Given the description of an element on the screen output the (x, y) to click on. 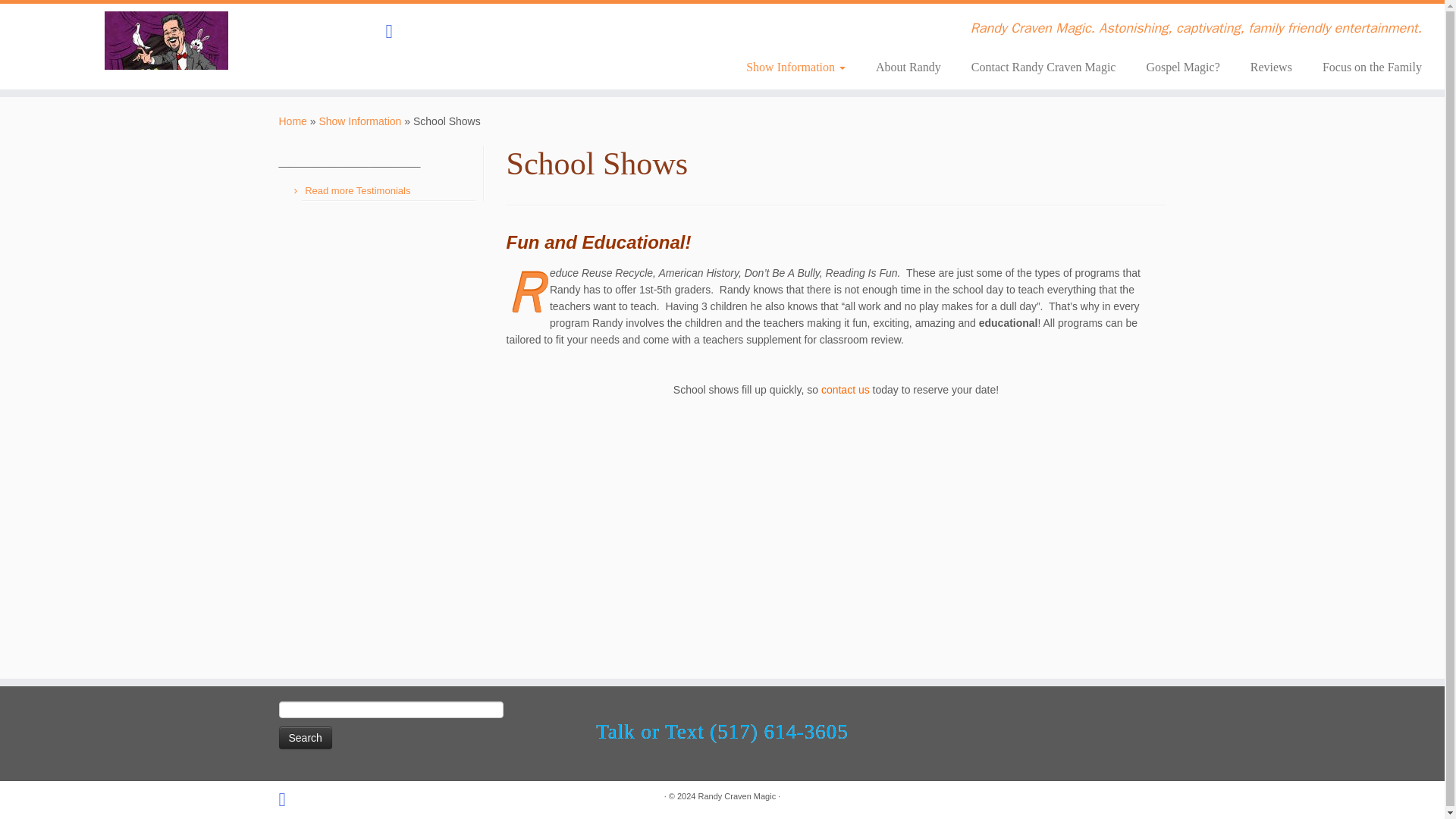
Read more Testimonials (357, 190)
contact us (845, 389)
Focus on the Family (1364, 67)
Search (305, 737)
Randy Craven Magic (736, 796)
Show Information (795, 67)
Show Information (359, 121)
Contact Randy Craven Magic (1043, 67)
Search (305, 737)
About Randy (908, 67)
